Given the description of an element on the screen output the (x, y) to click on. 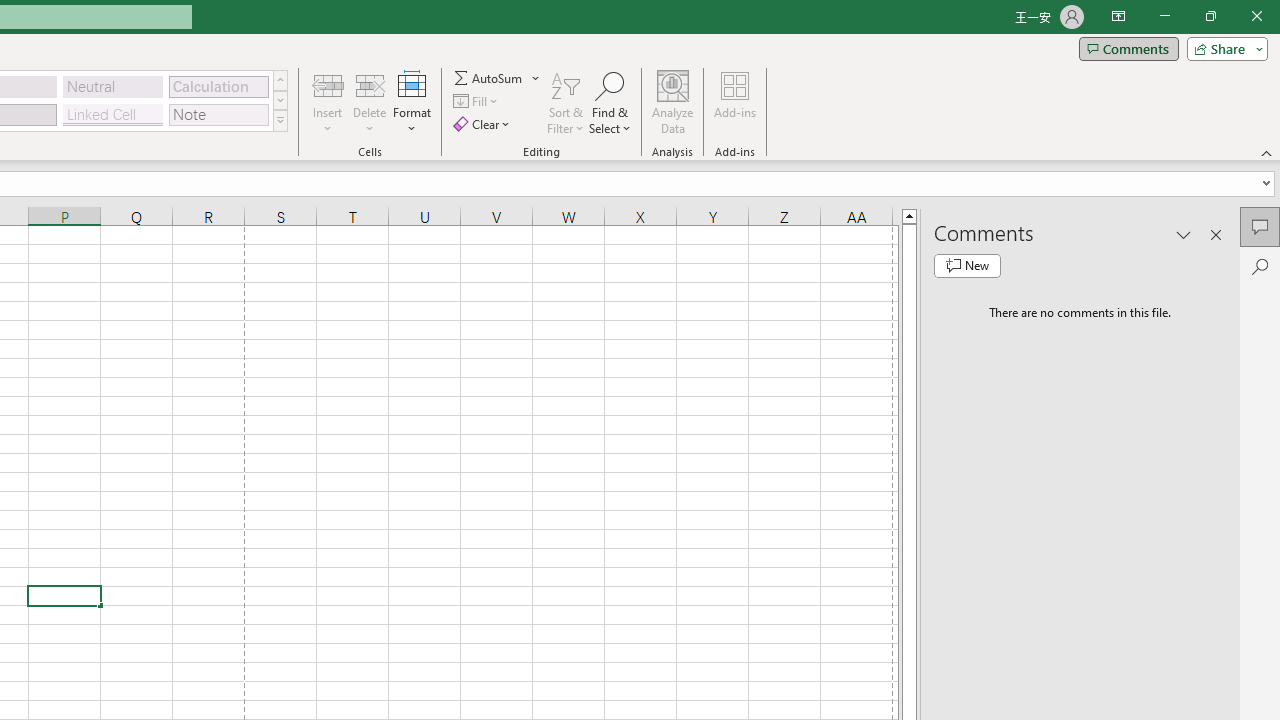
Fill (477, 101)
Note (218, 114)
